Given the description of an element on the screen output the (x, y) to click on. 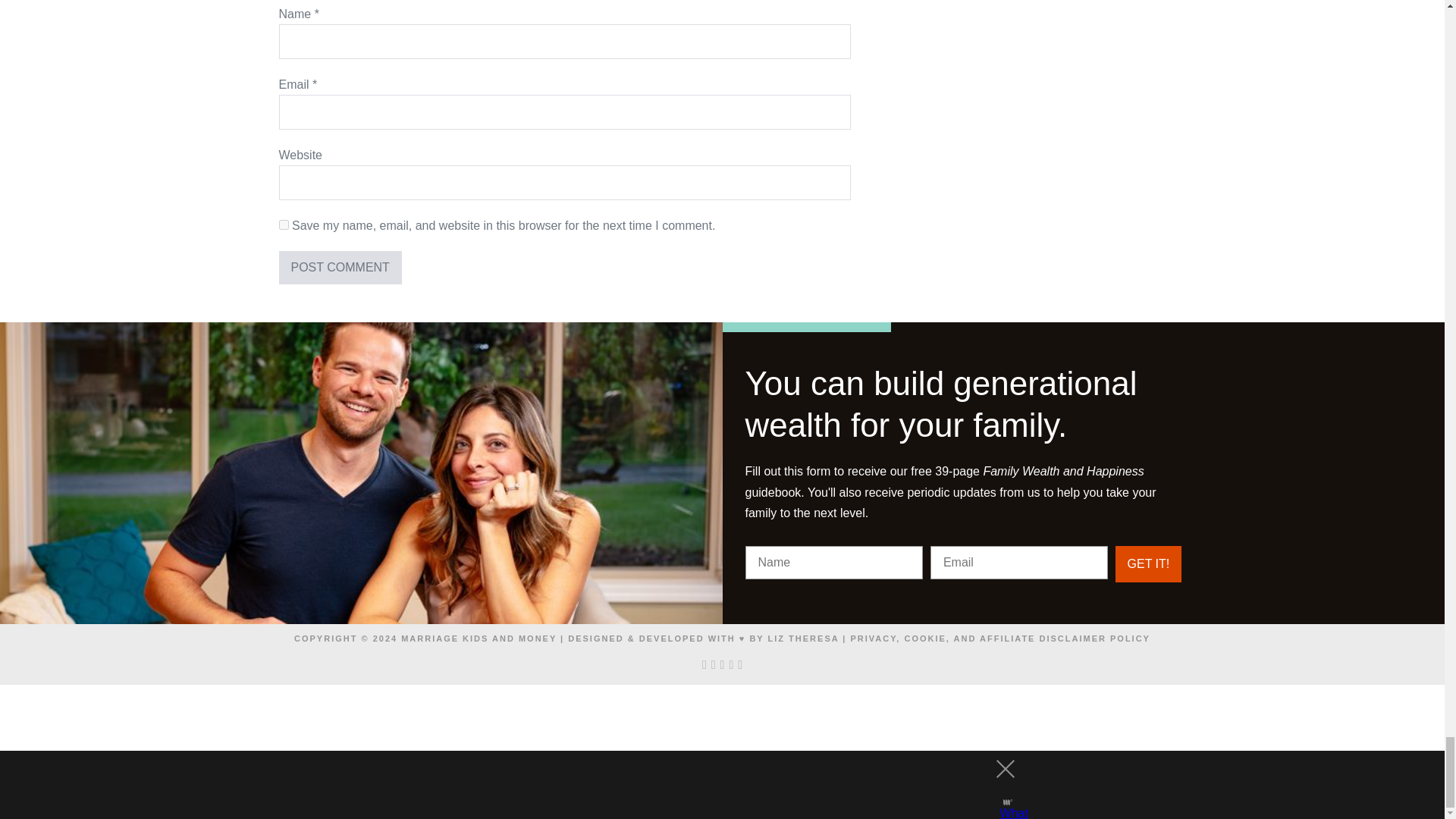
yes (283, 225)
Post Comment (340, 267)
